Given the description of an element on the screen output the (x, y) to click on. 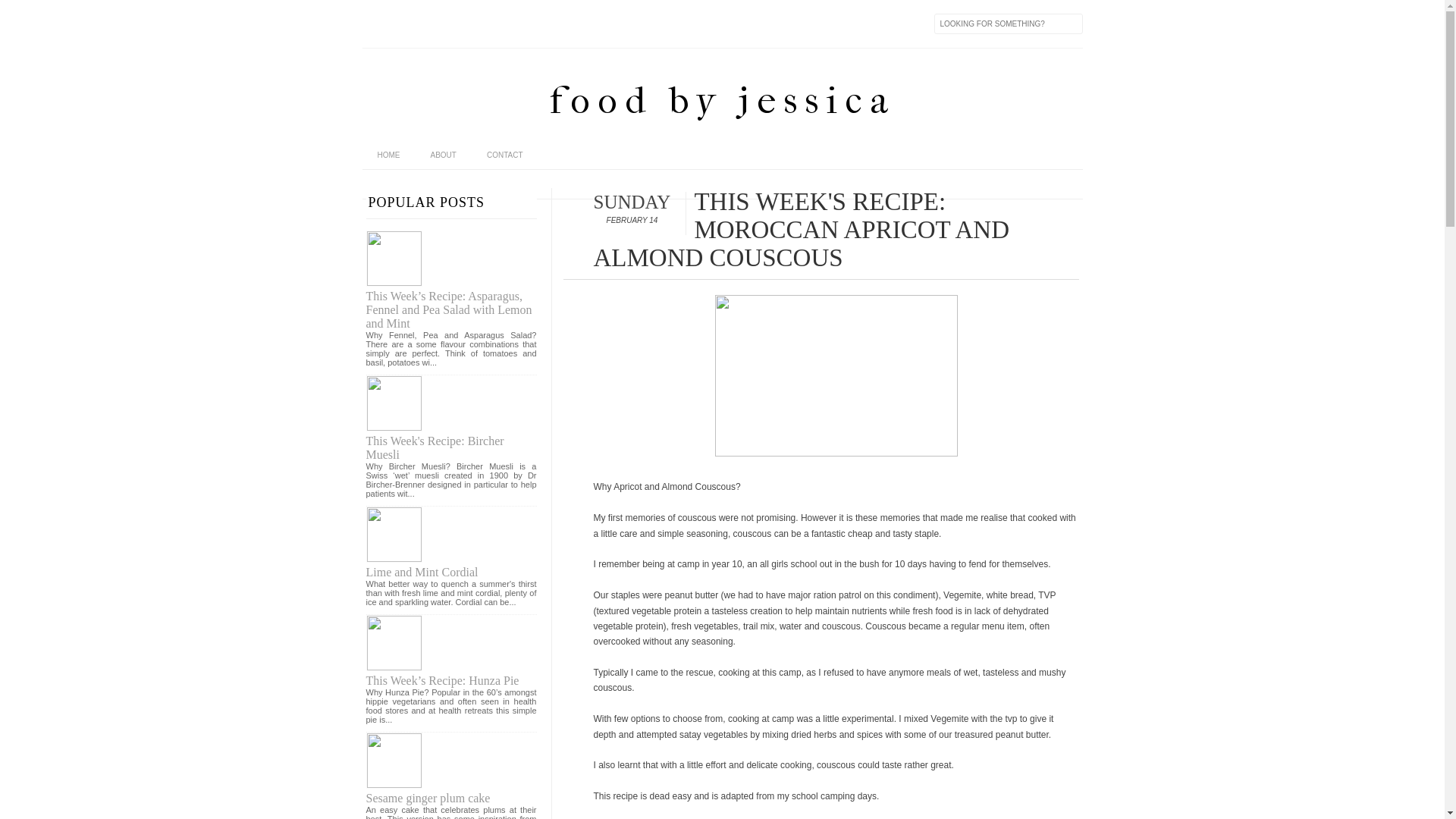
Facebook Element type: text (374, 23)
Sesame ginger plum cake Element type: text (427, 797)
This Week's Recipe: Bircher Muesli Element type: text (434, 447)
HOME Element type: text (388, 155)
CONTACT Element type: text (504, 155)
Instagram Element type: text (438, 23)
Twitter Element type: text (406, 23)
ABOUT Element type: text (443, 155)
food by jessica Element type: text (721, 100)
Lime and Mint Cordial Element type: text (421, 571)
